Given the description of an element on the screen output the (x, y) to click on. 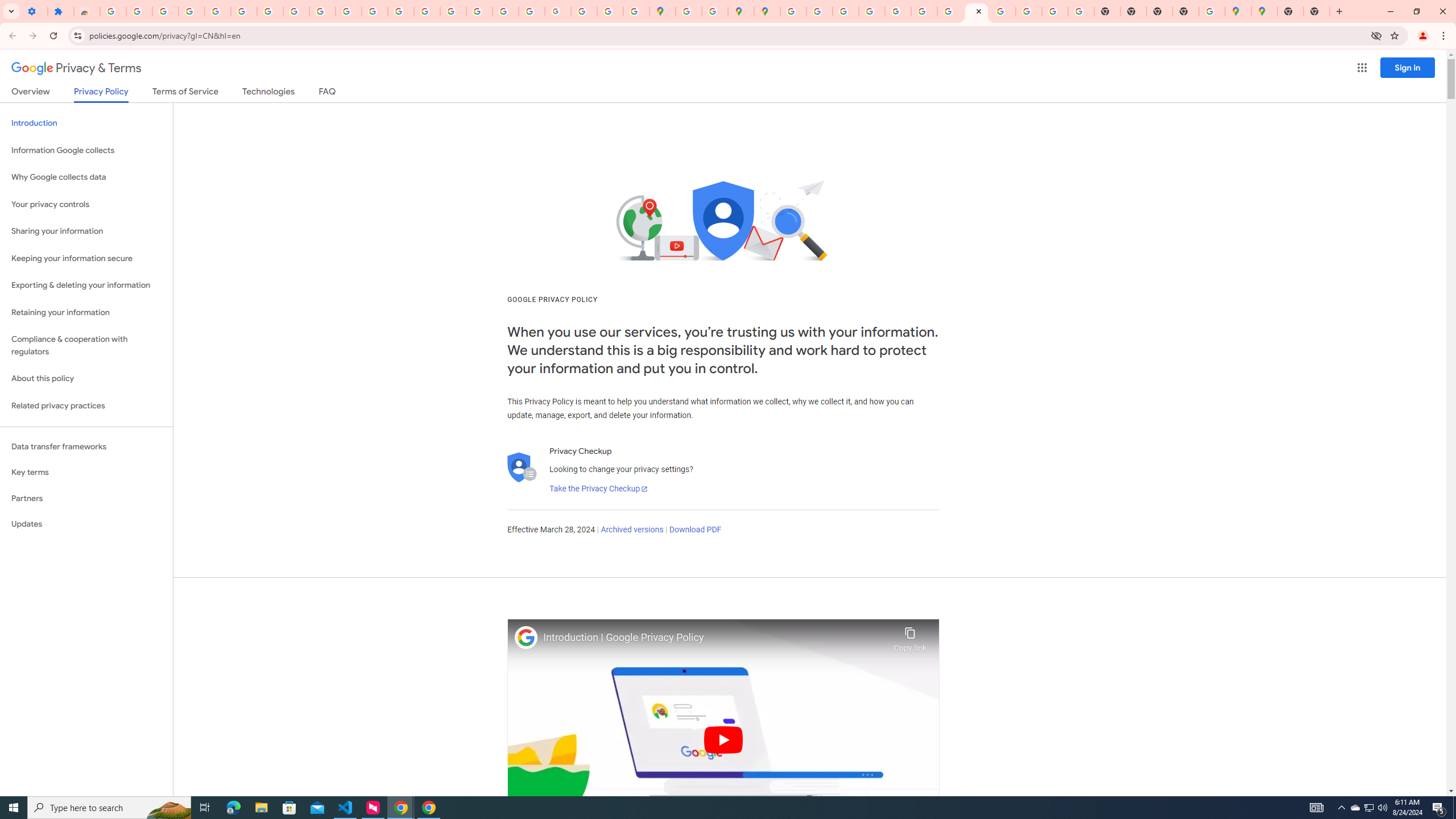
Privacy Help Center - Policies Help (845, 11)
Sign in - Google Accounts (689, 11)
Delete photos & videos - Computer - Google Photos Help (138, 11)
YouTube (348, 11)
Google Account Help (269, 11)
Use Google Maps in Space - Google Maps Help (1211, 11)
